Given the description of an element on the screen output the (x, y) to click on. 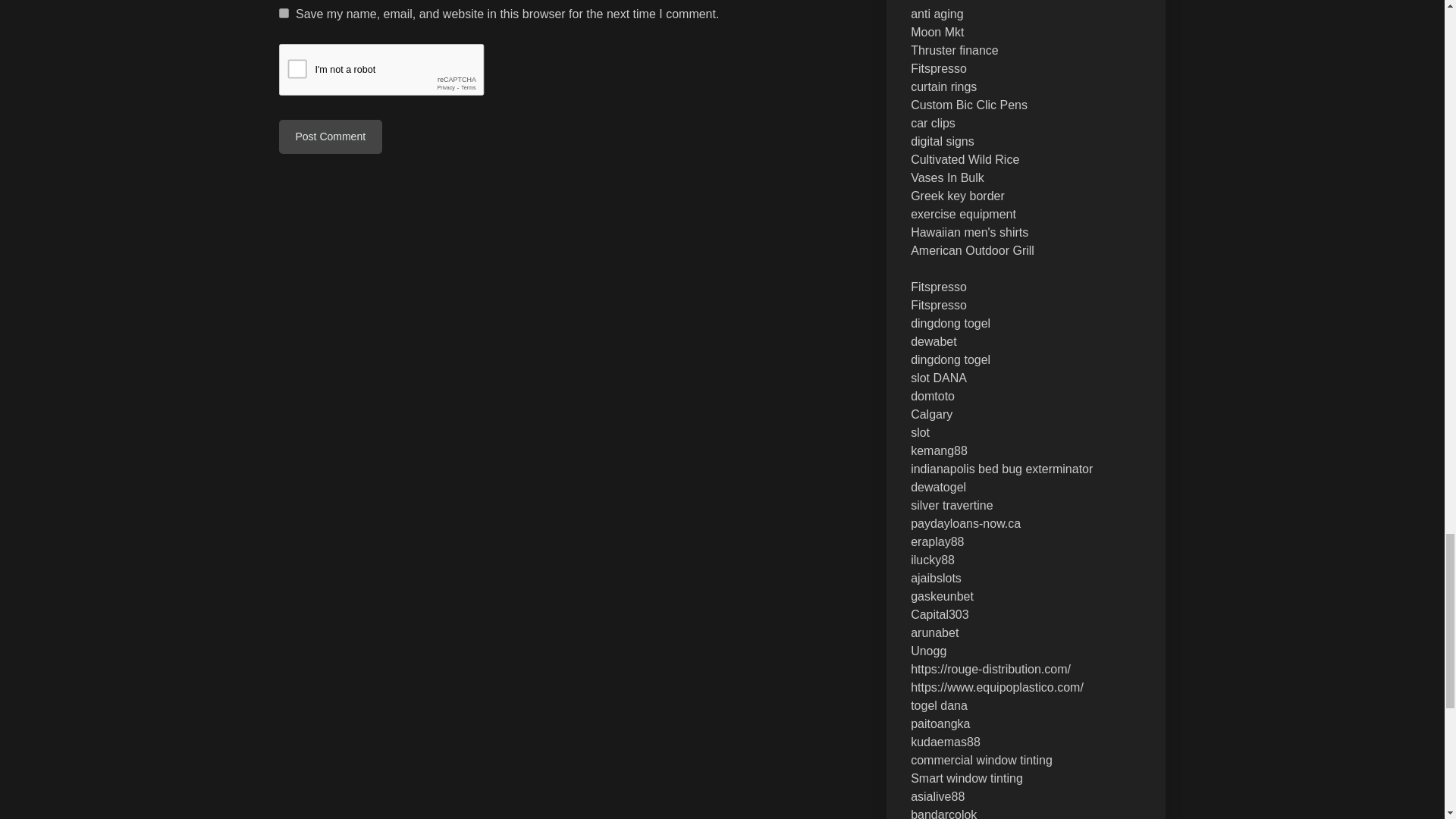
reCAPTCHA (394, 73)
Post Comment (330, 136)
yes (283, 13)
Post Comment (330, 136)
